Given the description of an element on the screen output the (x, y) to click on. 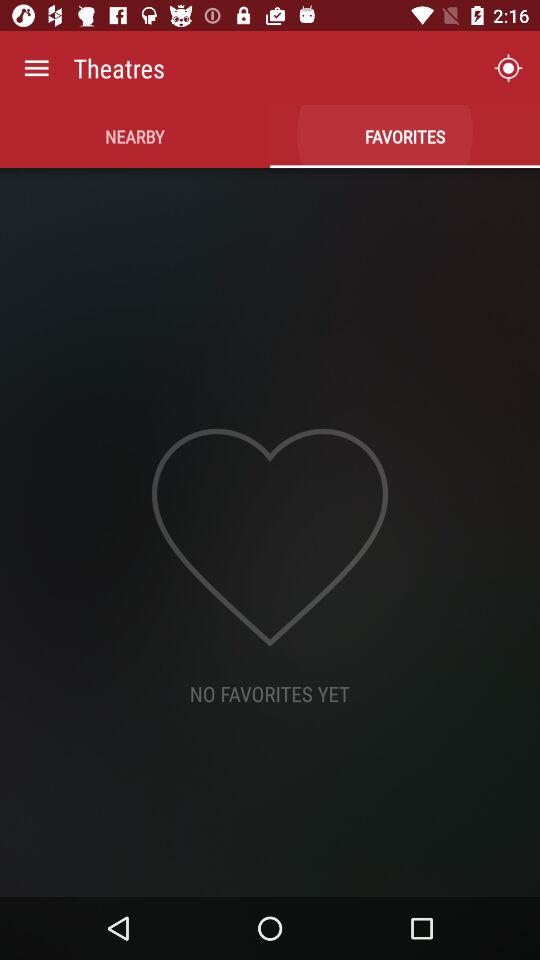
press the icon next to theatres icon (508, 67)
